Given the description of an element on the screen output the (x, y) to click on. 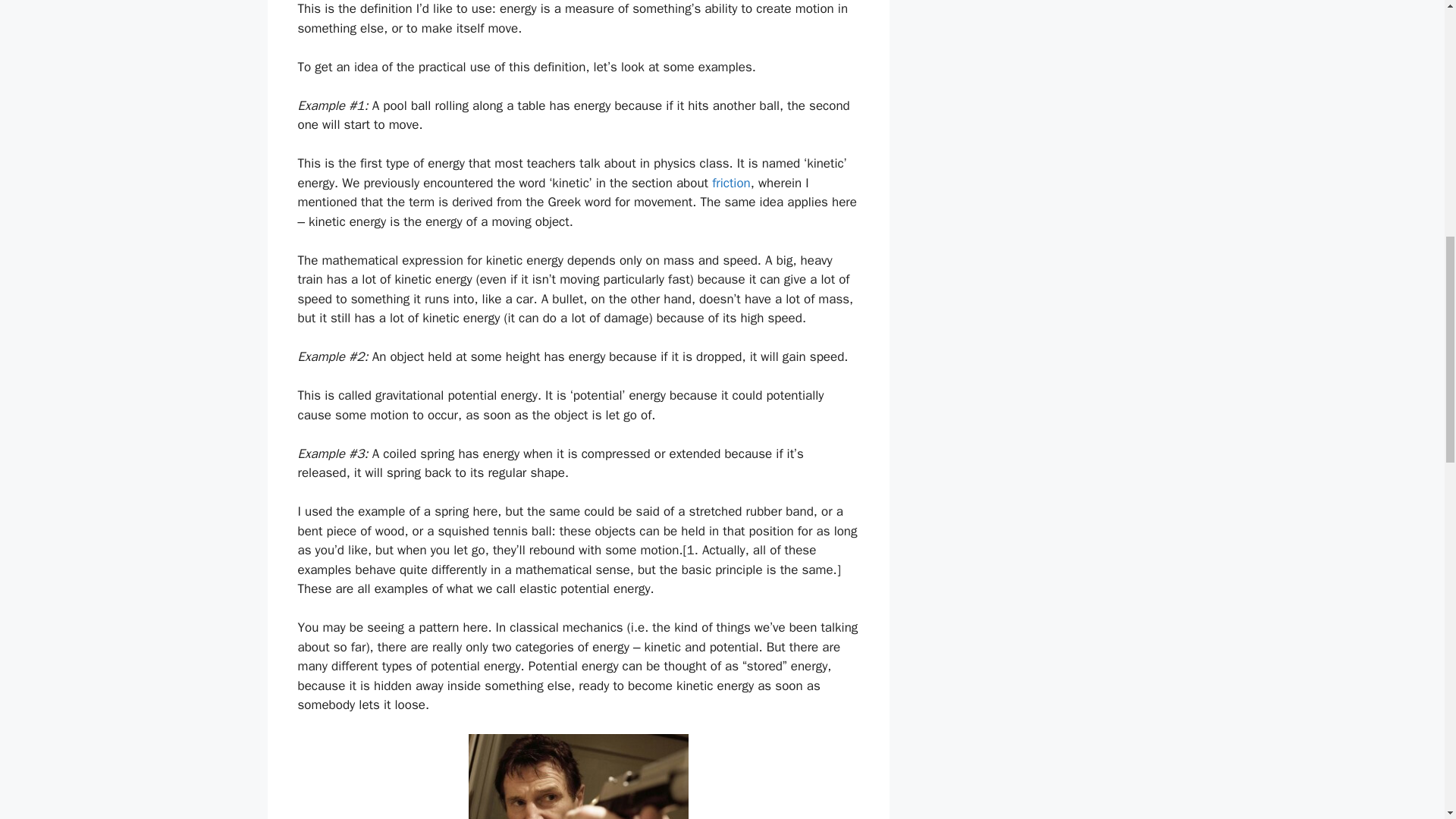
liam neeson - taken (578, 776)
friction (731, 182)
2.8 Friction and Air Resistance (731, 182)
